Given the description of an element on the screen output the (x, y) to click on. 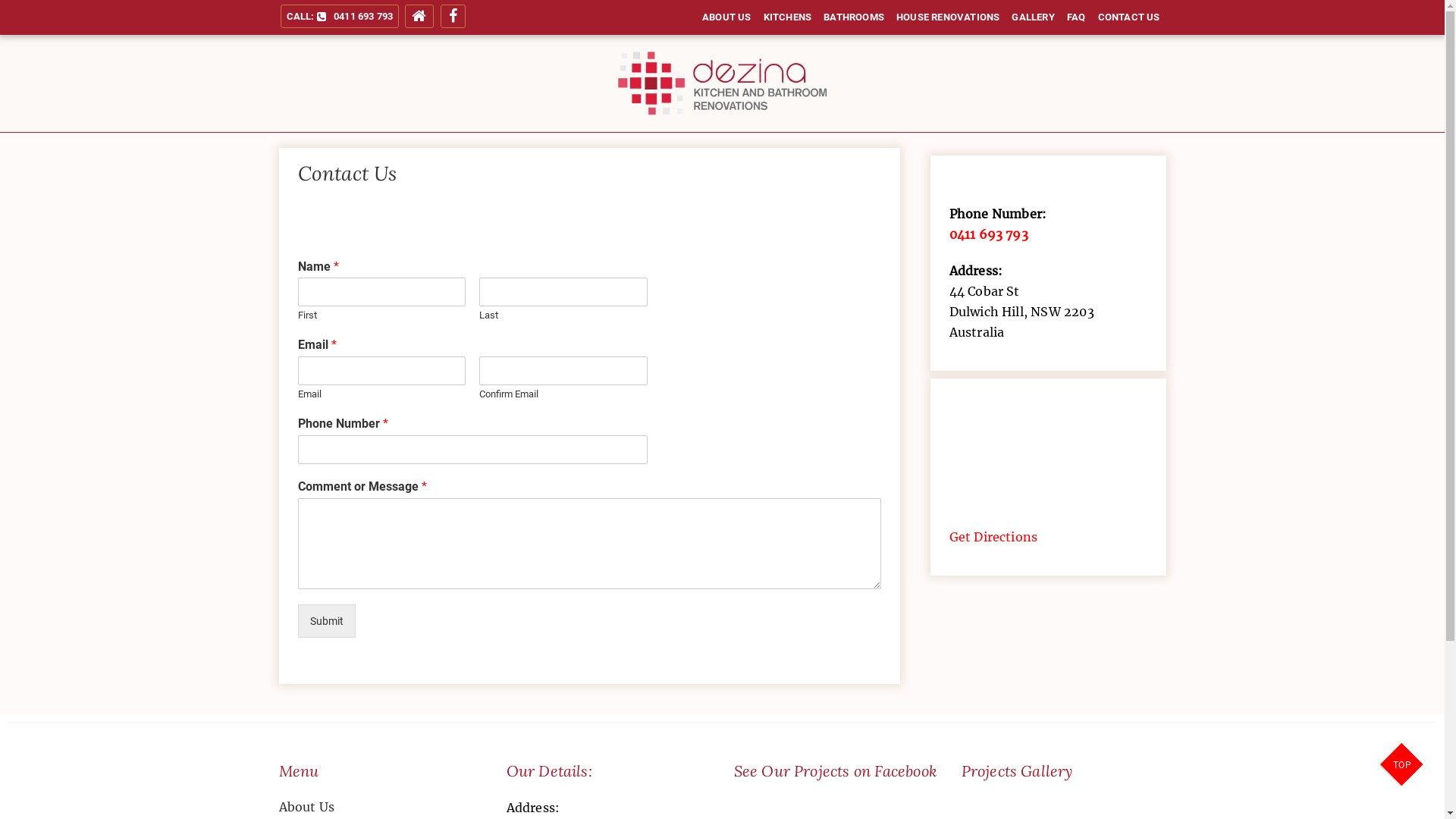
Home Page Element type: hover (418, 16)
0411 693 793 Element type: text (988, 233)
About Us Element type: text (381, 806)
Get Directions Element type: text (993, 536)
CONTACT US Element type: text (1129, 17)
CALL: 0411 693 793 Element type: text (339, 16)
Dezina Kitchen and Bathroom Renovations Sydney Element type: text (889, 153)
GALLERY Element type: text (1032, 17)
Submit Element type: text (325, 620)
FAQ Element type: text (1076, 17)
TOP Element type: text (1402, 765)
BATHROOMS Element type: text (853, 17)
Facebook Element type: hover (452, 16)
ABOUT US Element type: text (726, 17)
HOUSE RENOVATIONS Element type: text (947, 17)
KITCHENS Element type: text (787, 17)
